Given the description of an element on the screen output the (x, y) to click on. 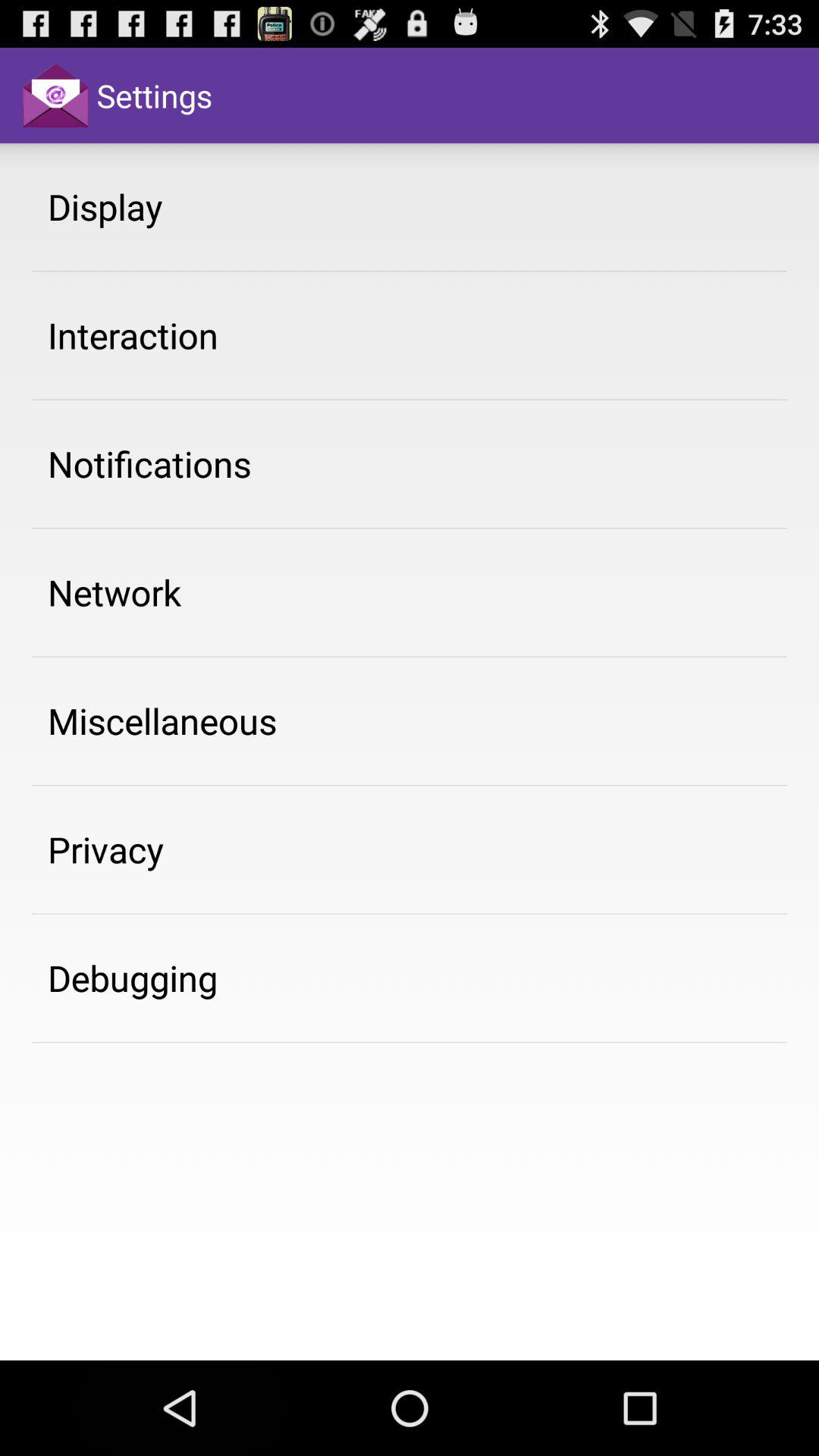
press network (114, 592)
